Given the description of an element on the screen output the (x, y) to click on. 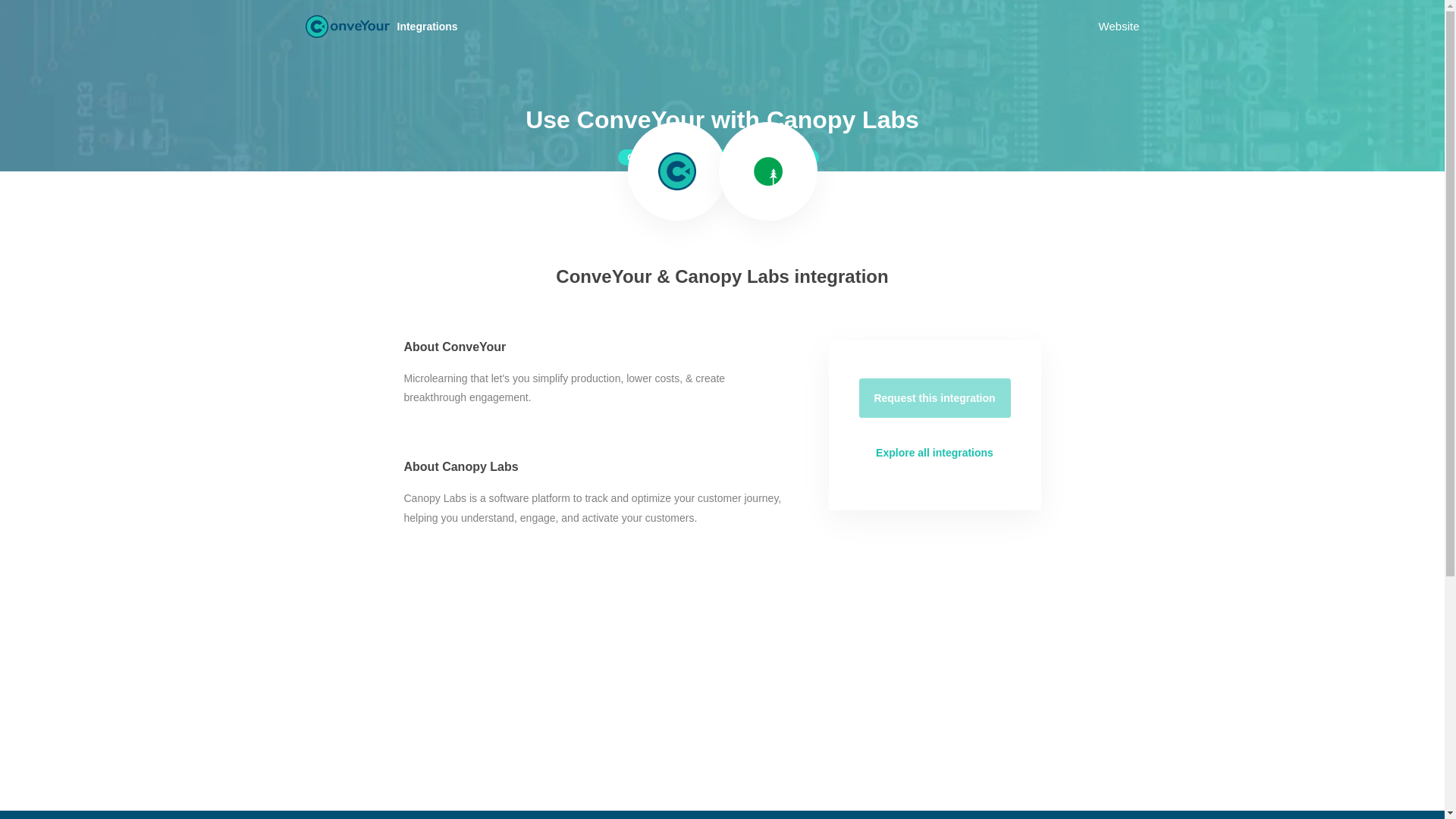
Integrations (433, 26)
Canopy Labs (768, 171)
Website (1119, 25)
ConveYour (346, 26)
Request this integration (934, 397)
ConveYour (676, 171)
Explore all integrations (934, 452)
